Given the description of an element on the screen output the (x, y) to click on. 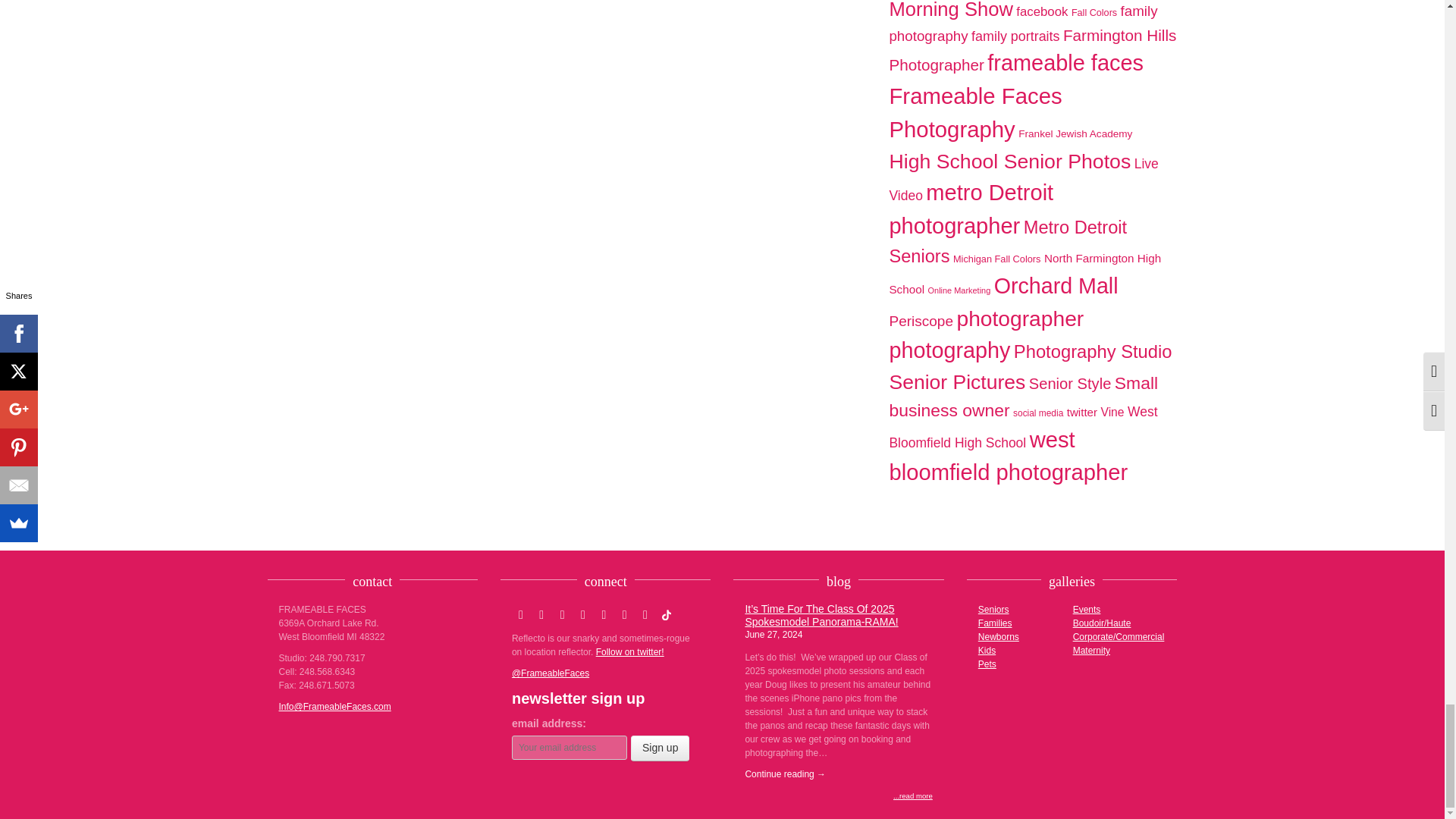
Sign up (659, 748)
